Given the description of an element on the screen output the (x, y) to click on. 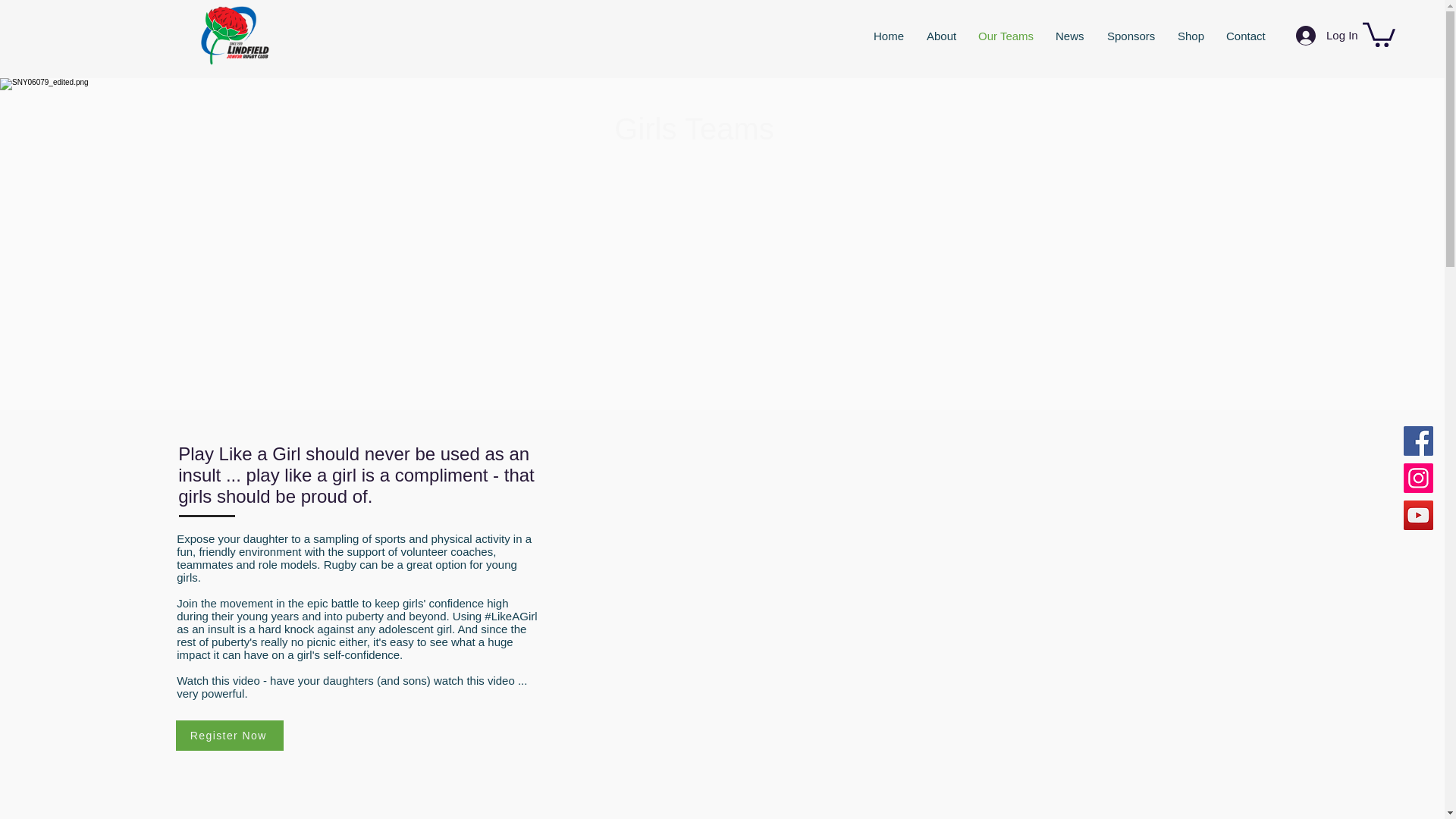
Shop (1190, 36)
Home (888, 36)
About (940, 36)
lindfield-Junior-rugby.png (233, 35)
Register Now (229, 735)
Sponsors (1131, 36)
Our Teams (1004, 36)
News (1069, 36)
Contact (1245, 36)
Log In (1319, 35)
